Given the description of an element on the screen output the (x, y) to click on. 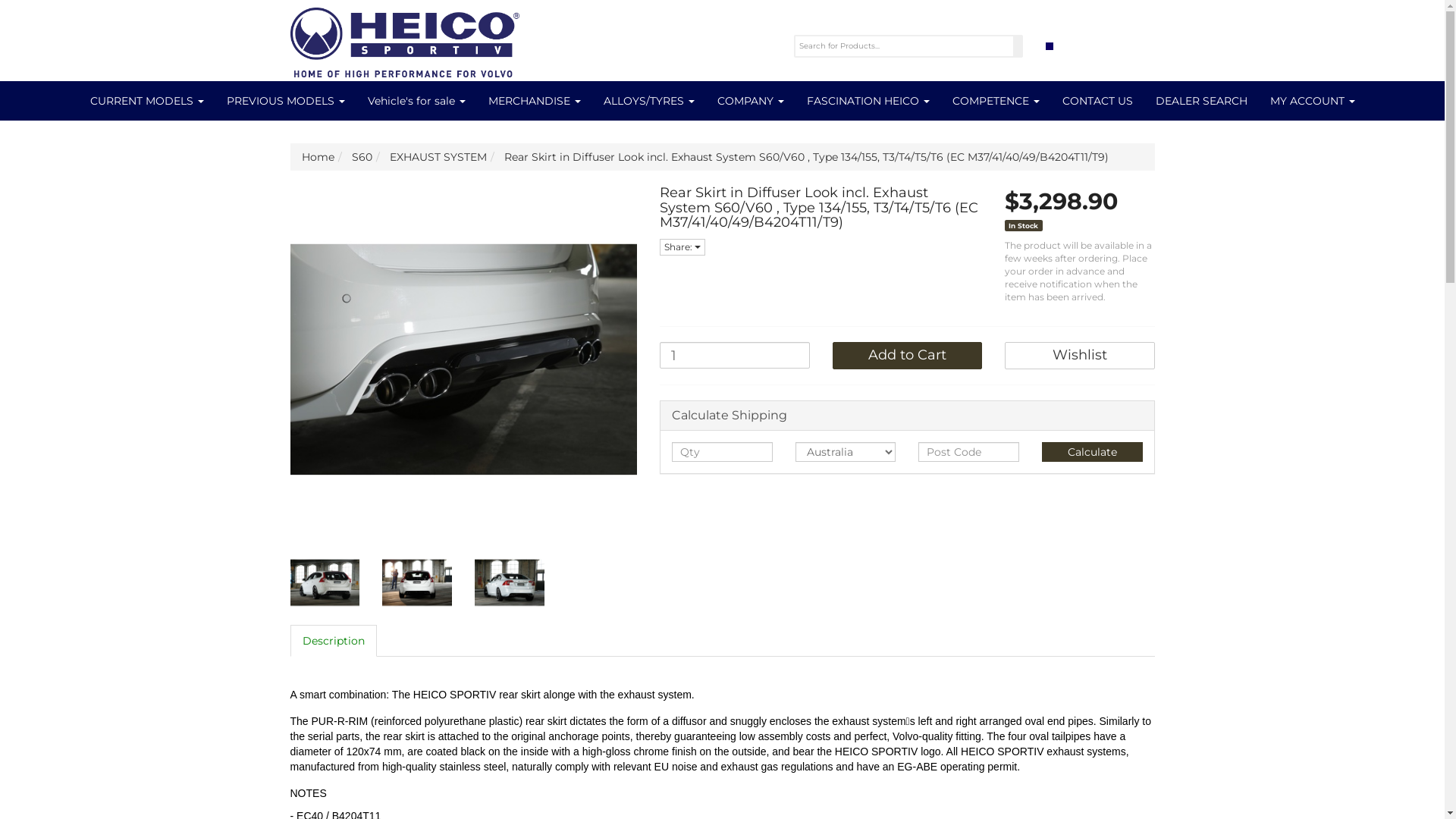
Add to Cart Element type: text (907, 355)
MY ACCOUNT Element type: text (1312, 100)
Description Element type: text (332, 640)
COMPANY Element type: text (749, 100)
Calculate Element type: text (1091, 451)
PREVIOUS MODELS Element type: text (285, 100)
Vehicle's for sale Element type: text (416, 100)
Search Element type: text (1017, 45)
DEALER SEARCH Element type: text (1200, 100)
Large View Element type: hover (324, 582)
Home Element type: text (317, 156)
EXHAUST SYSTEM Element type: text (437, 156)
Share: Element type: text (682, 246)
Large View Element type: hover (416, 582)
MERCHANDISE Element type: text (533, 100)
S60 Element type: text (361, 156)
HEICO SPORTIV AUSTRALIA Element type: hover (403, 37)
ALLOYS/TYRES Element type: text (648, 100)
FASCINATION HEICO Element type: text (867, 100)
COMPETENCE Element type: text (995, 100)
Large View Element type: hover (509, 582)
CONTACT US Element type: text (1097, 100)
Wishlist Element type: text (1079, 355)
CURRENT MODELS Element type: text (146, 100)
